Given the description of an element on the screen output the (x, y) to click on. 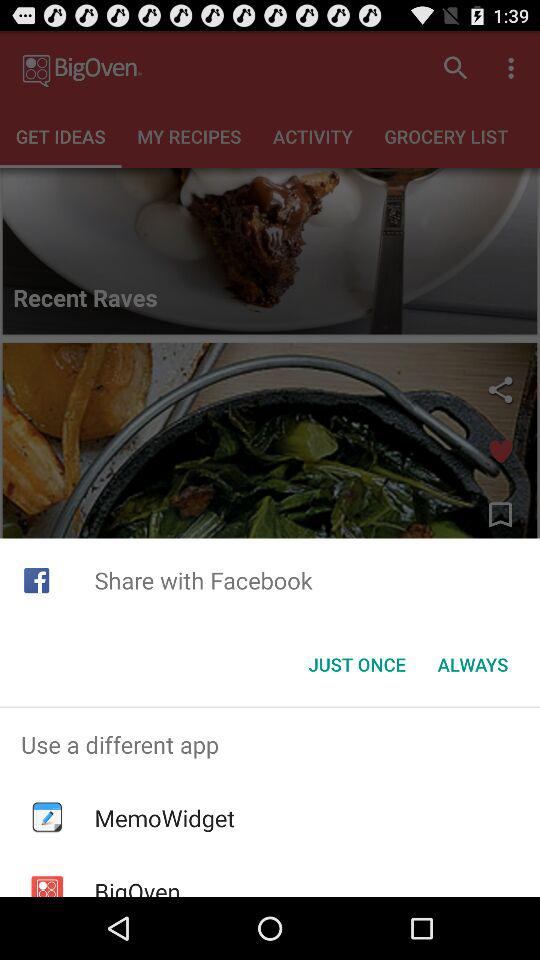
scroll until always (472, 664)
